Given the description of an element on the screen output the (x, y) to click on. 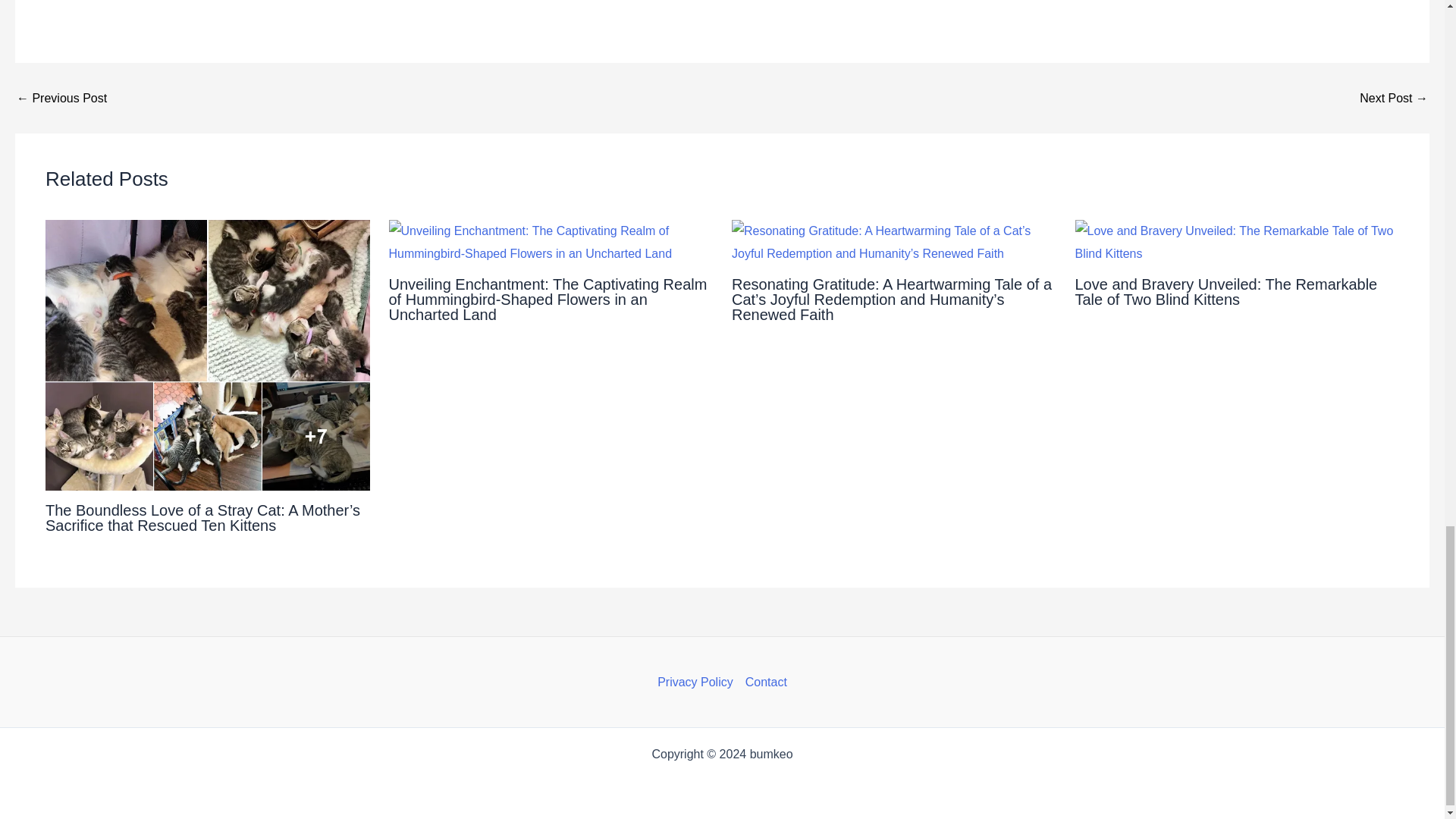
Contact (763, 681)
Privacy Policy (698, 681)
